Given the description of an element on the screen output the (x, y) to click on. 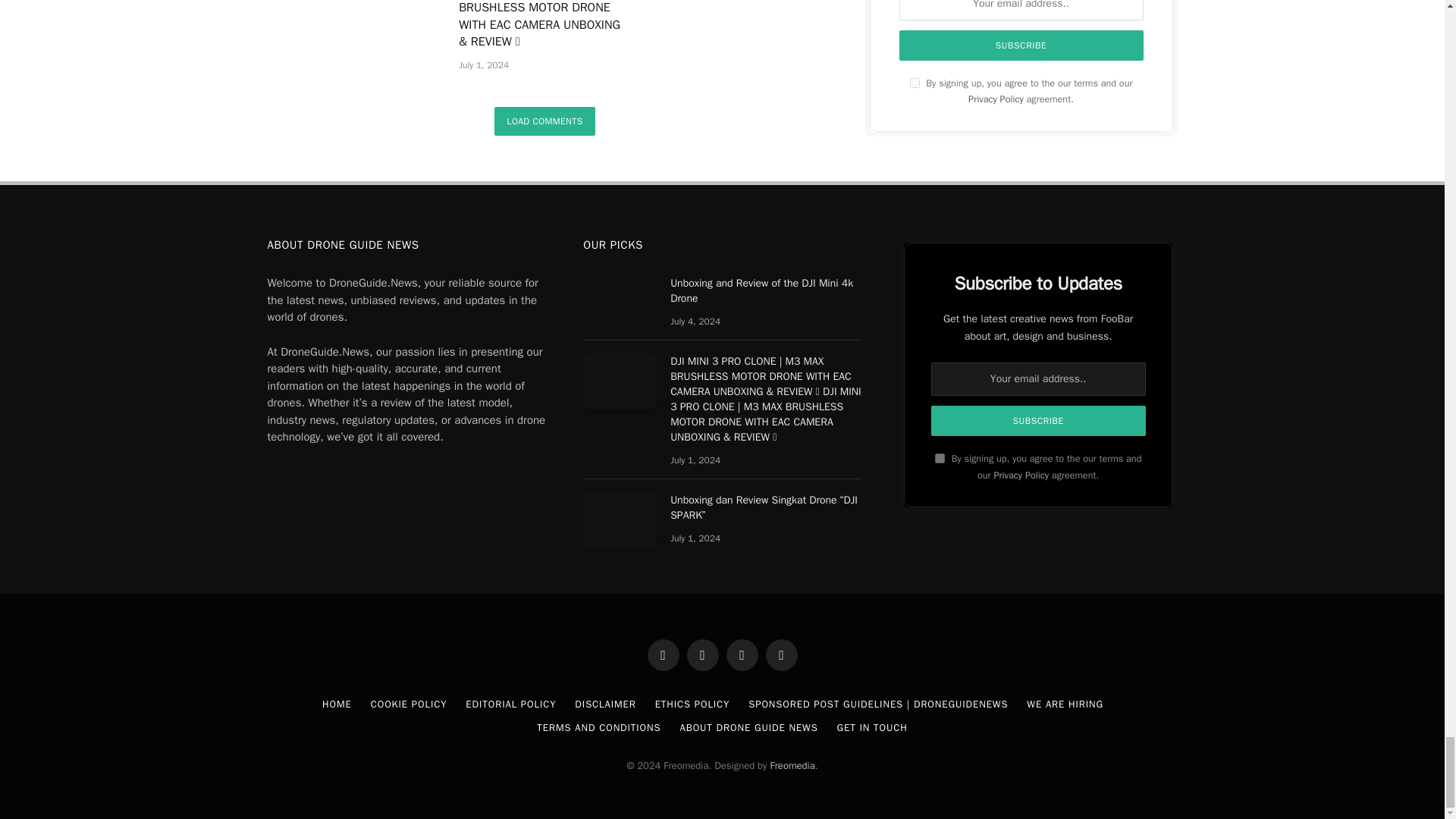
on (939, 458)
Subscribe (1038, 420)
